Given the description of an element on the screen output the (x, y) to click on. 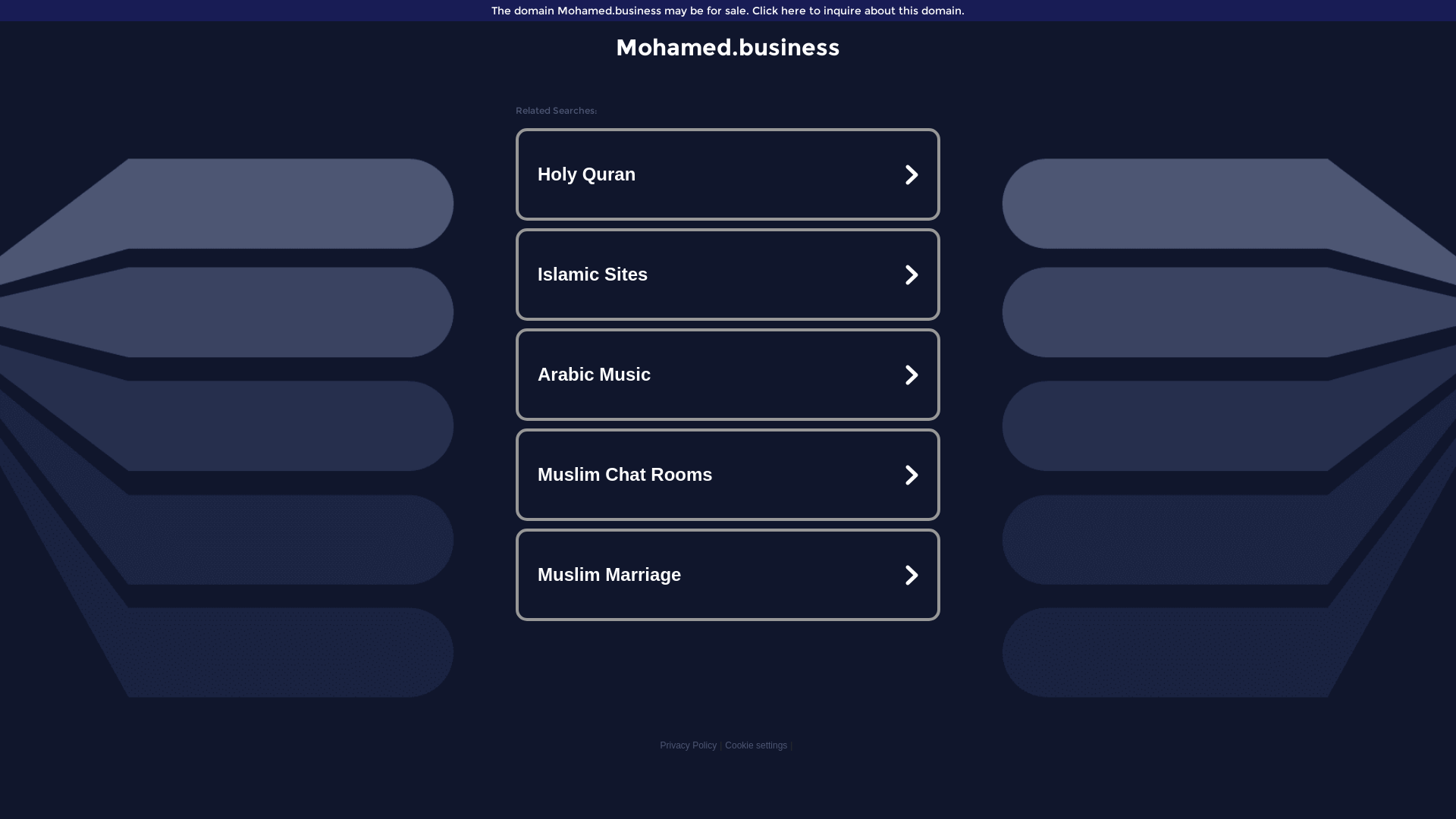
Arabic Music Element type: text (727, 374)
Cookie settings Element type: text (755, 745)
Islamic Sites Element type: text (727, 274)
Muslim Marriage Element type: text (727, 574)
Mohamed.business Element type: text (727, 47)
Privacy Policy Element type: text (687, 745)
Holy Quran Element type: text (727, 174)
Muslim Chat Rooms Element type: text (727, 474)
